Given the description of an element on the screen output the (x, y) to click on. 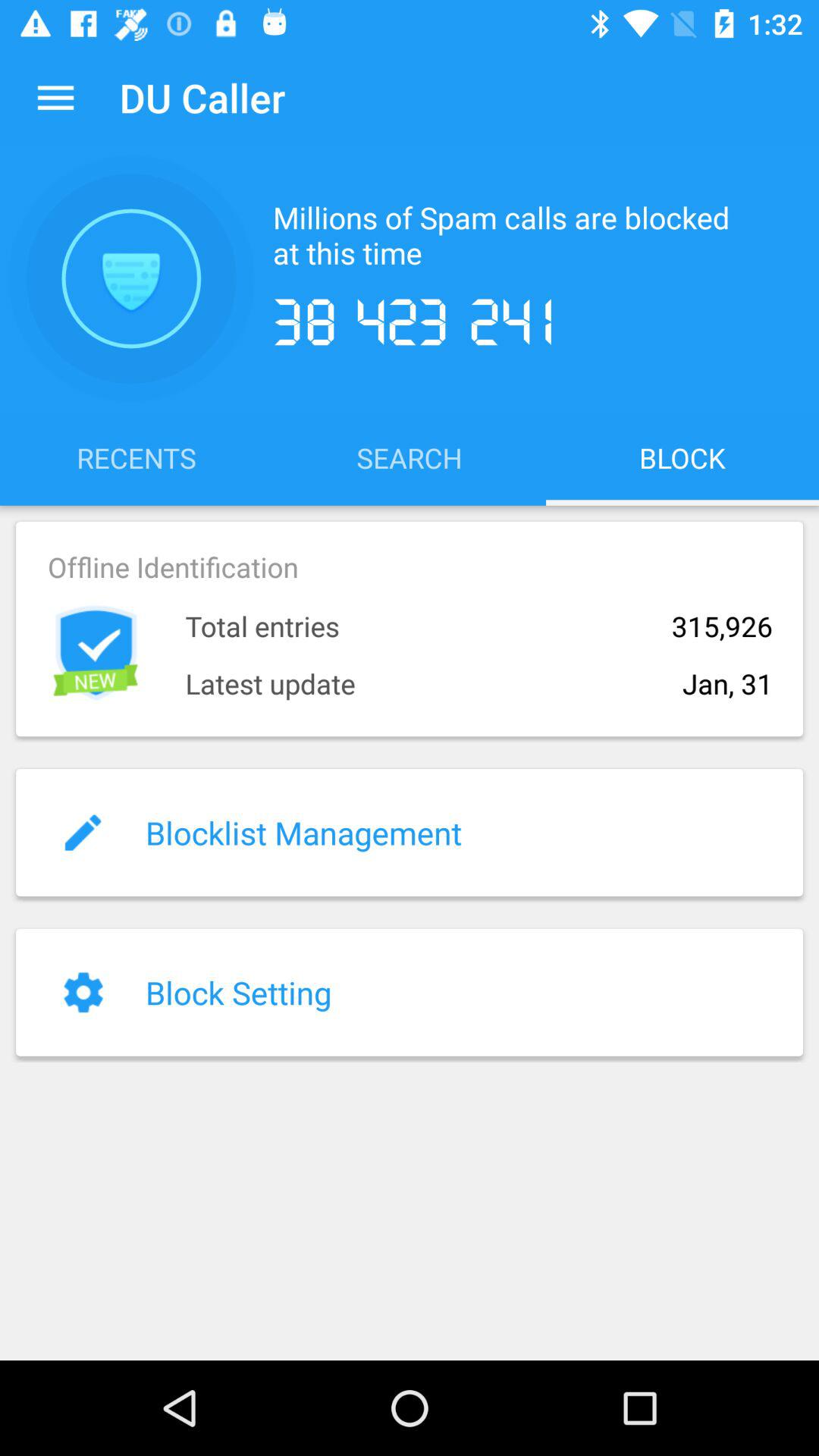
jump until the recents icon (136, 457)
